Given the description of an element on the screen output the (x, y) to click on. 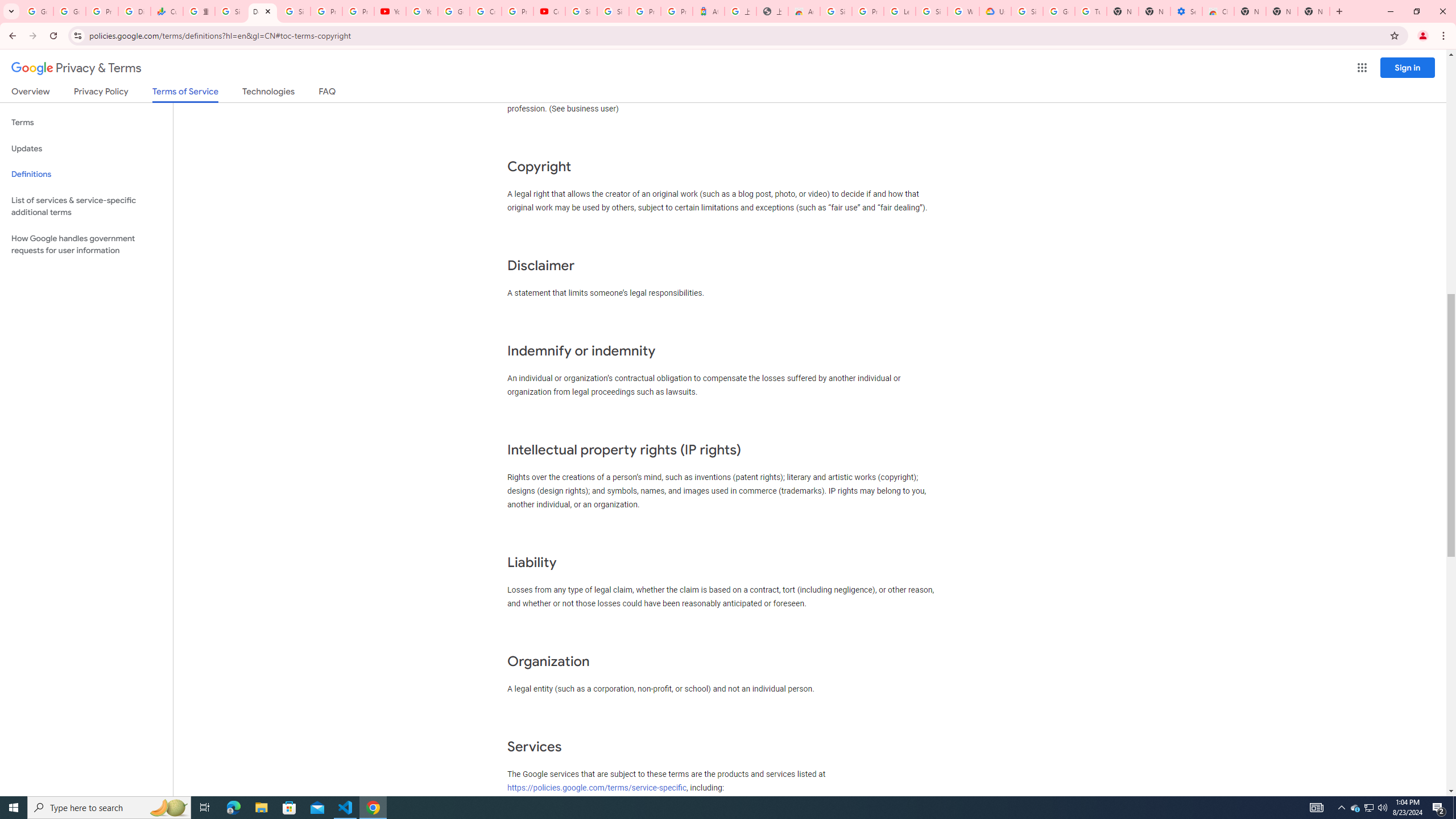
Currencies - Google Finance (166, 11)
Who are Google's partners? - Privacy and conditions - Google (963, 11)
Settings - Accessibility (1185, 11)
Google Account Help (1059, 11)
